Given the description of an element on the screen output the (x, y) to click on. 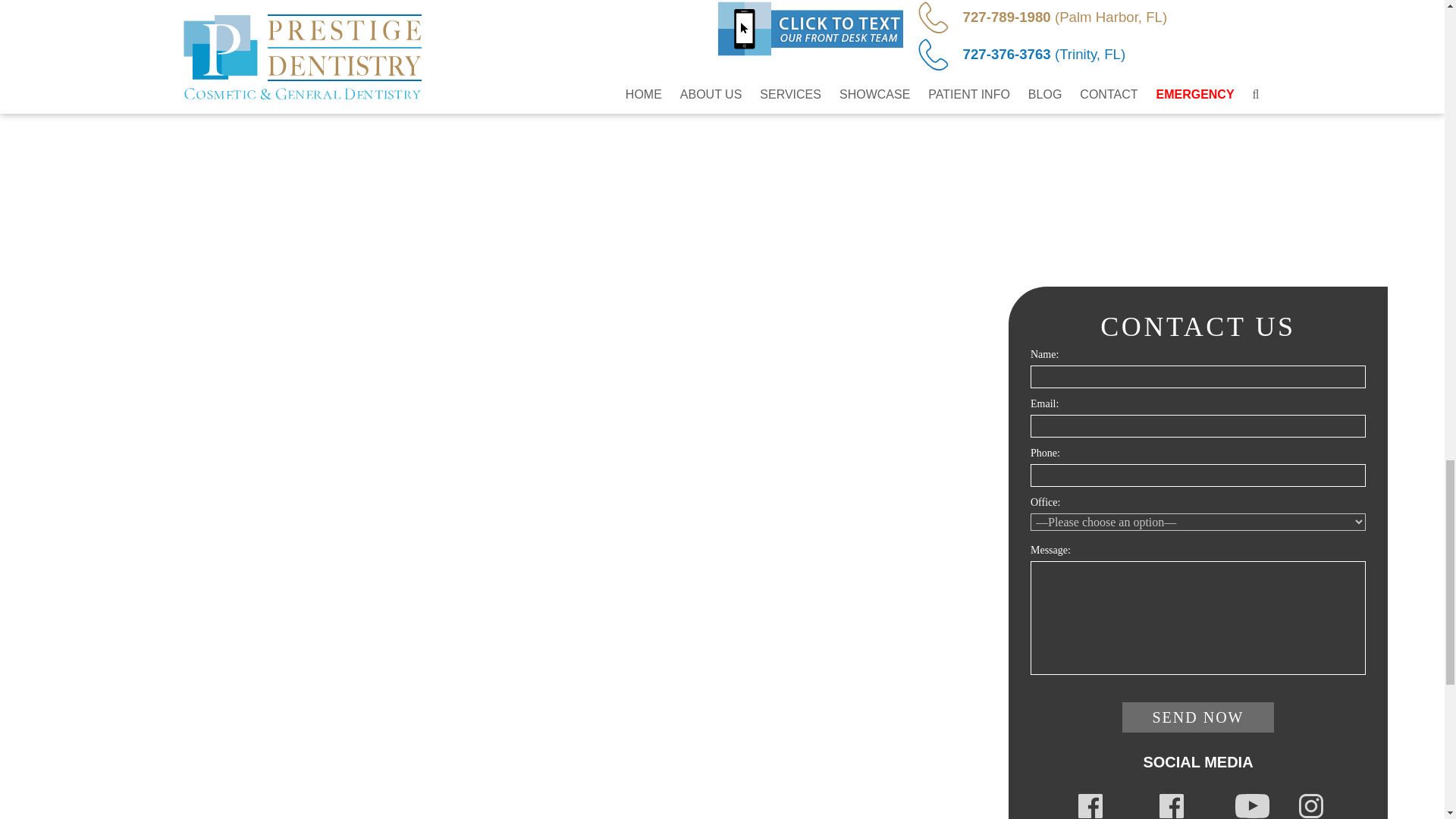
Trinity, FL (1090, 802)
Send Now (1198, 716)
Palm Harbor, FL (1171, 802)
